Given the description of an element on the screen output the (x, y) to click on. 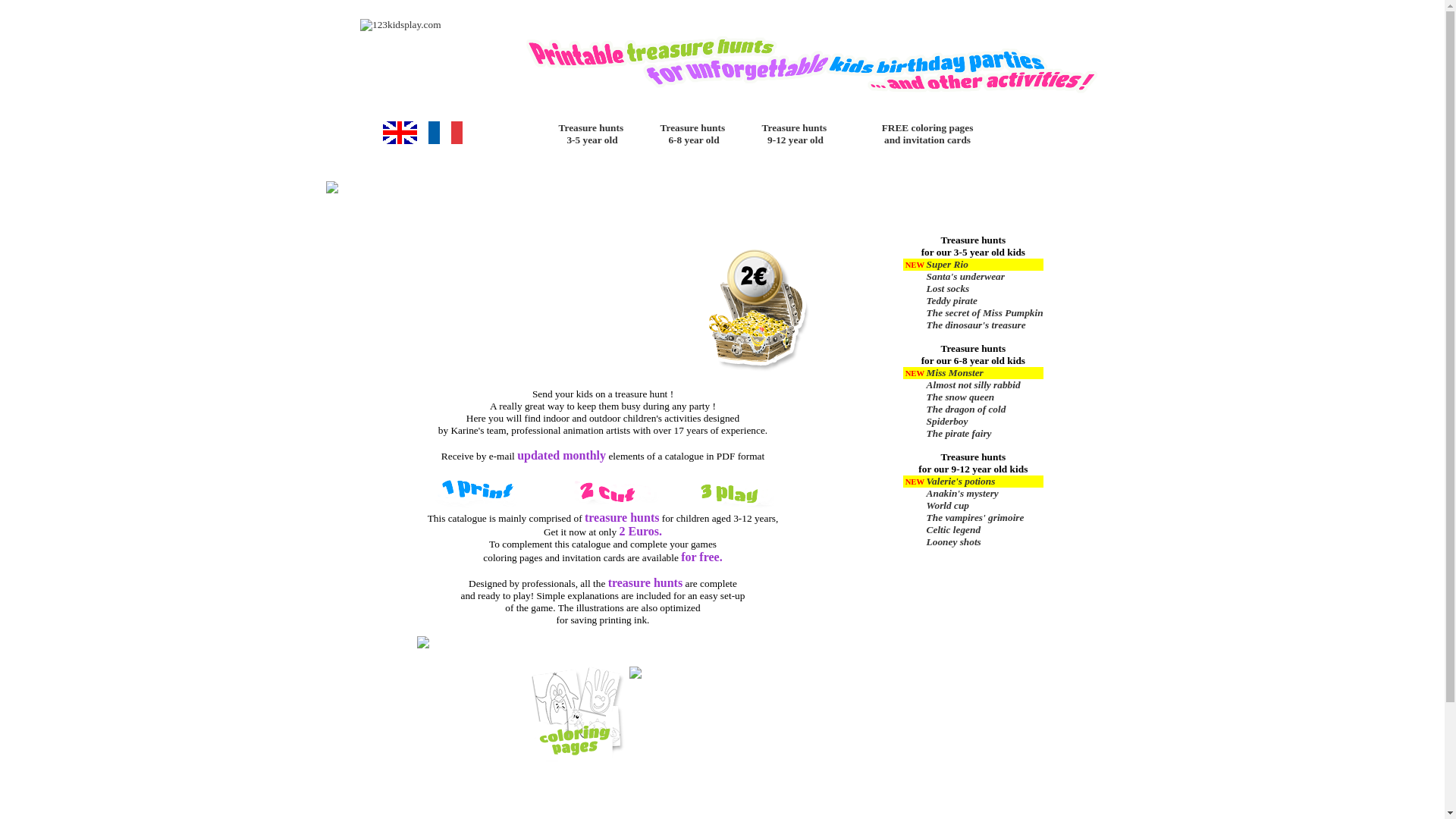
Question, message ? Element type: hover (1013, 13)
Treasure hunts 
6-8 year old Element type: text (690, 141)
Treasure hunts 
9-12 year old Element type: text (792, 141)
Add 123kidsplay.com to favorits Element type: hover (949, 14)
Super Rio Element type: text (984, 264)
123kidsplay.com on twitter Element type: hover (920, 14)
The vampires' grimoire Element type: text (984, 517)
The dinosaur's treasure Element type: text (984, 325)
FREE coloring pages
and invitation cards Element type: text (927, 141)
Anakin's mystery Element type: text (984, 493)
Valerie's potions Element type: text (984, 481)
Miss Monster Element type: text (984, 373)
The snow queen Element type: text (984, 397)
Lost socks Element type: text (984, 288)
Teddy pirate Element type: text (984, 300)
English Element type: hover (399, 140)
Spiderboy Element type: text (984, 421)
The secret of Miss Pumpkin Element type: text (984, 313)
Treasure hunts 
3-5 year old Element type: text (589, 141)
The pirate fairy Element type: text (984, 433)
Home 123kidsplay.com Element type: hover (400, 24)
Celtic legend Element type: text (984, 530)
The dragon of cold Element type: text (984, 409)
World cup Element type: text (984, 505)
Home Element type: hover (863, 14)
Almost not silly rabbid Element type: text (984, 385)
Looney shots Element type: text (984, 542)
Santa's underwear Element type: text (984, 276)
123kidsplay.com on facebook Element type: hover (892, 14)
